Given the description of an element on the screen output the (x, y) to click on. 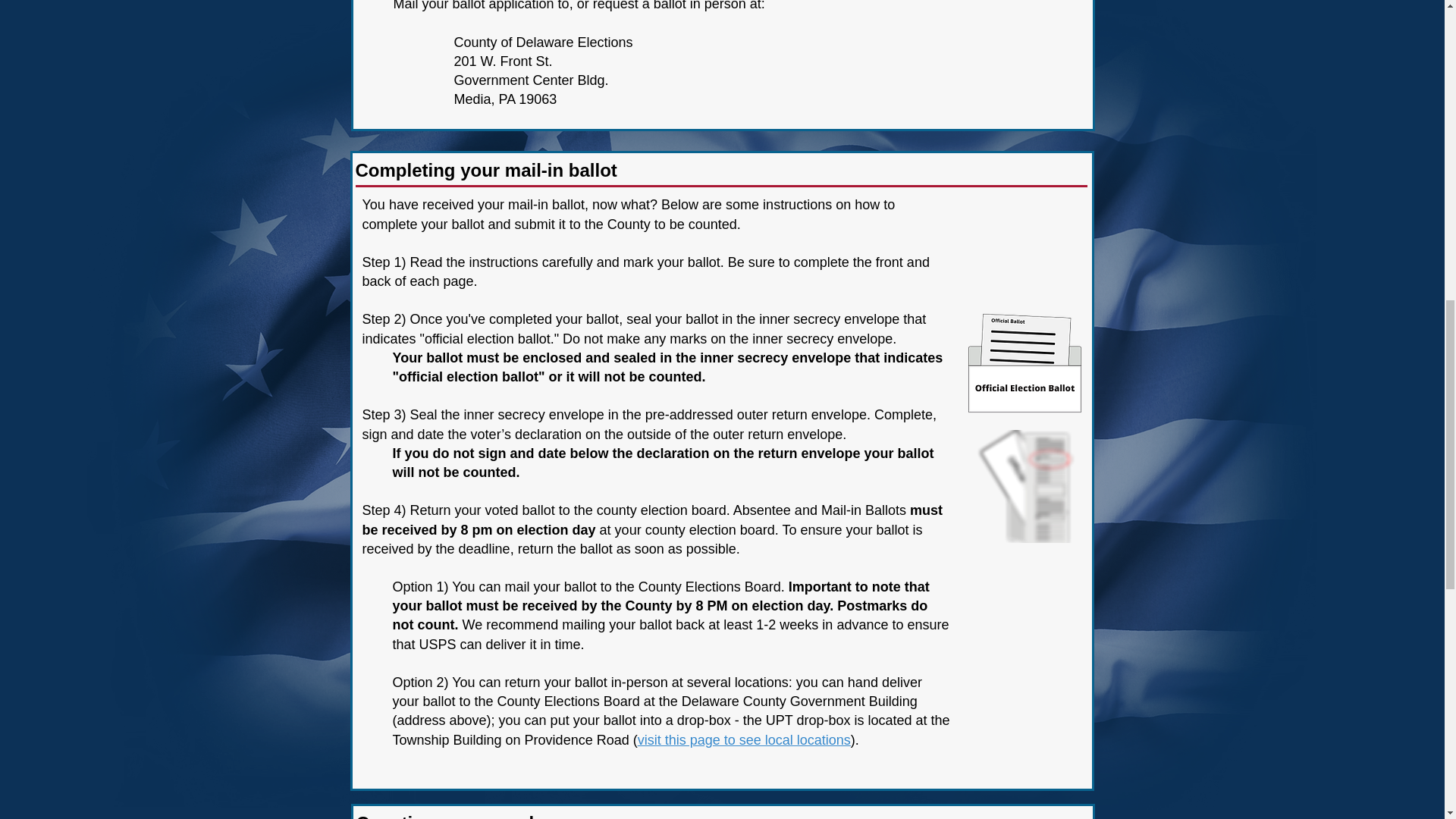
visit this page to see local locations (743, 739)
